Given the description of an element on the screen output the (x, y) to click on. 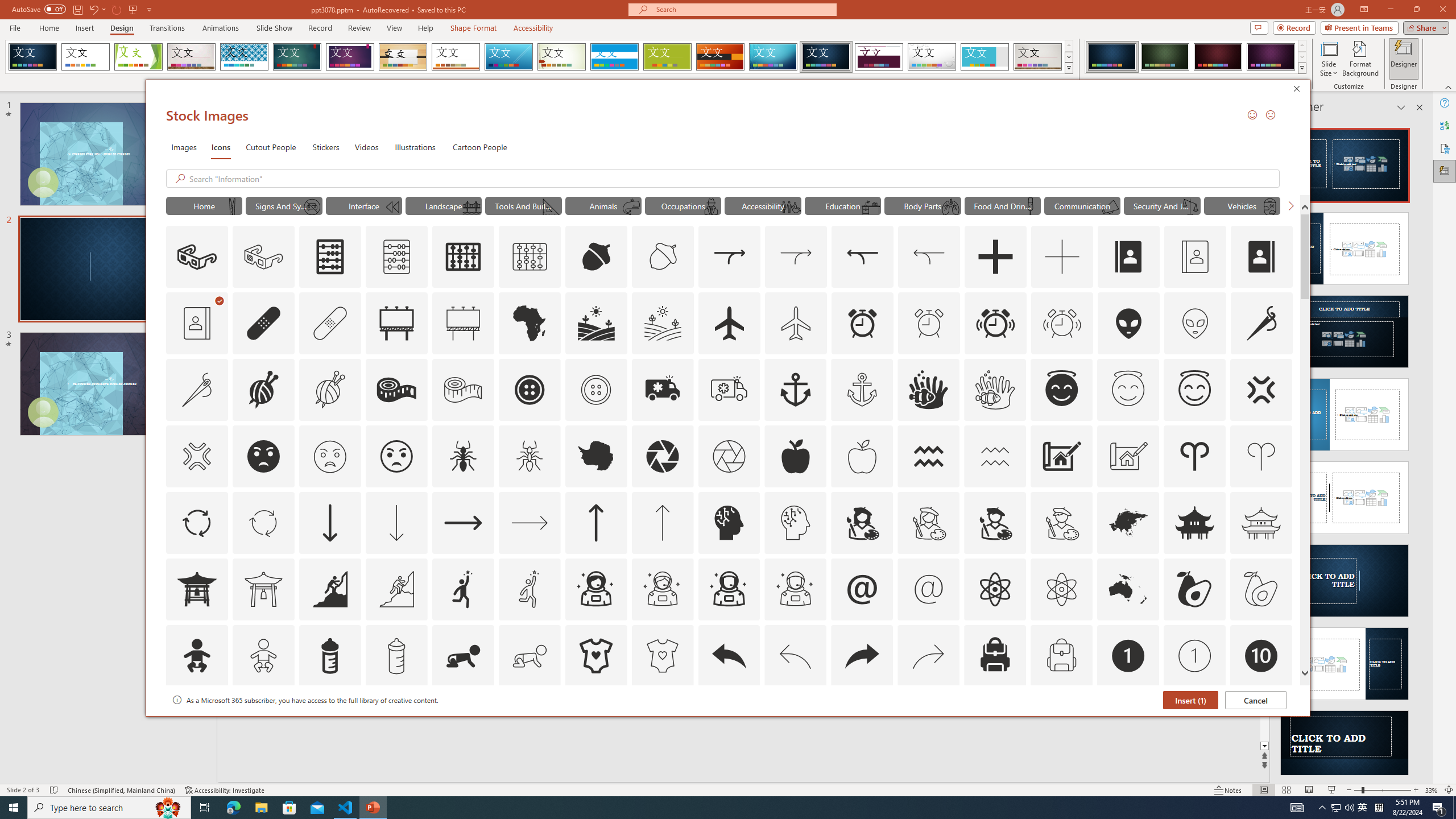
Format Background (1360, 58)
AutomationID: Icons_Atom_M (1061, 588)
Variants (1301, 67)
AutomationID: Icons_ArrowCircle (196, 522)
AutomationID: Icons_AsianTemple1 (196, 588)
AutomationID: Icons_ArtistFemale_M (928, 522)
AutomationID: Icons_ArrowCircle_M (263, 522)
